Given the description of an element on the screen output the (x, y) to click on. 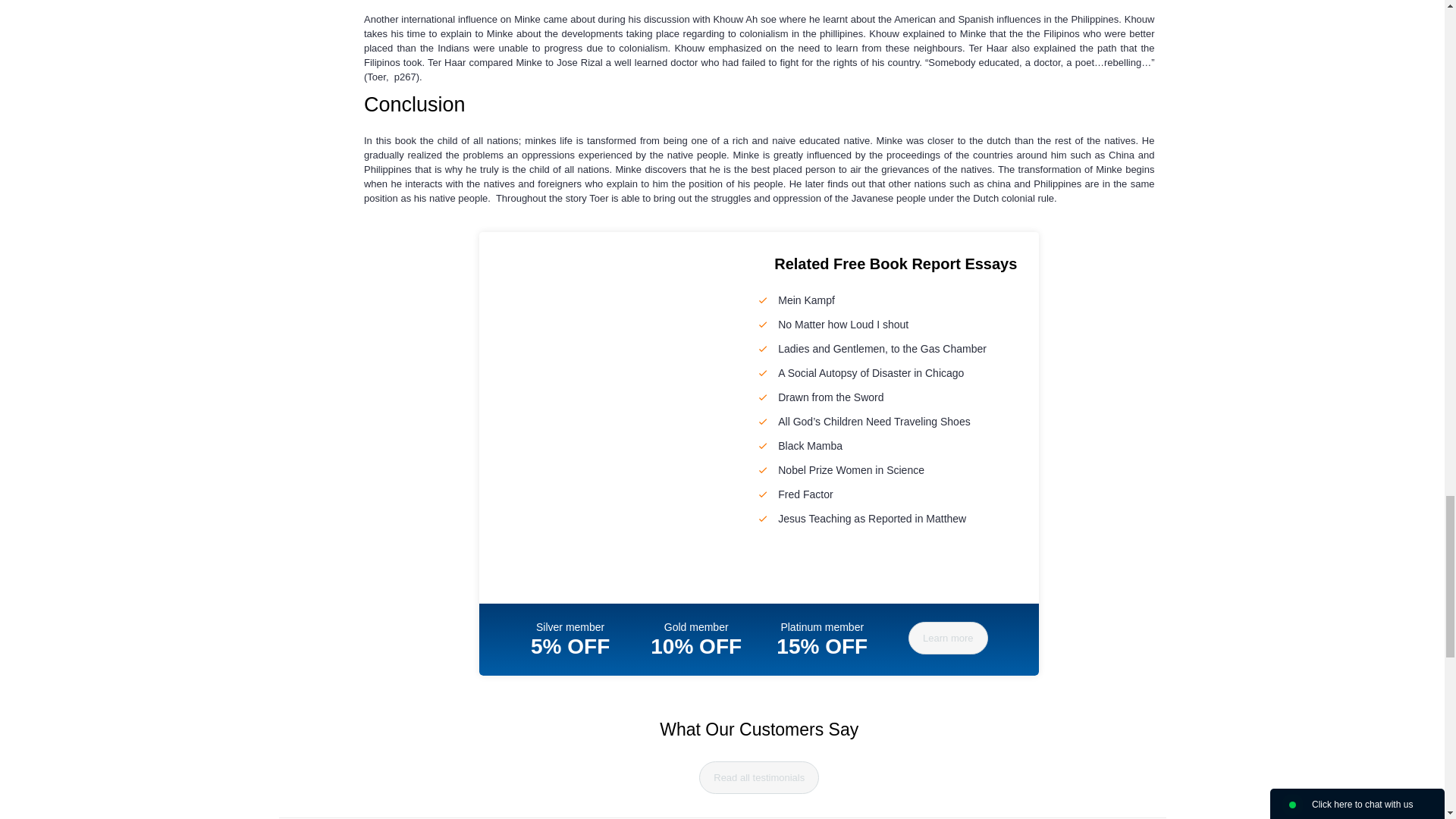
Mein Kampf (805, 300)
